Given the description of an element on the screen output the (x, y) to click on. 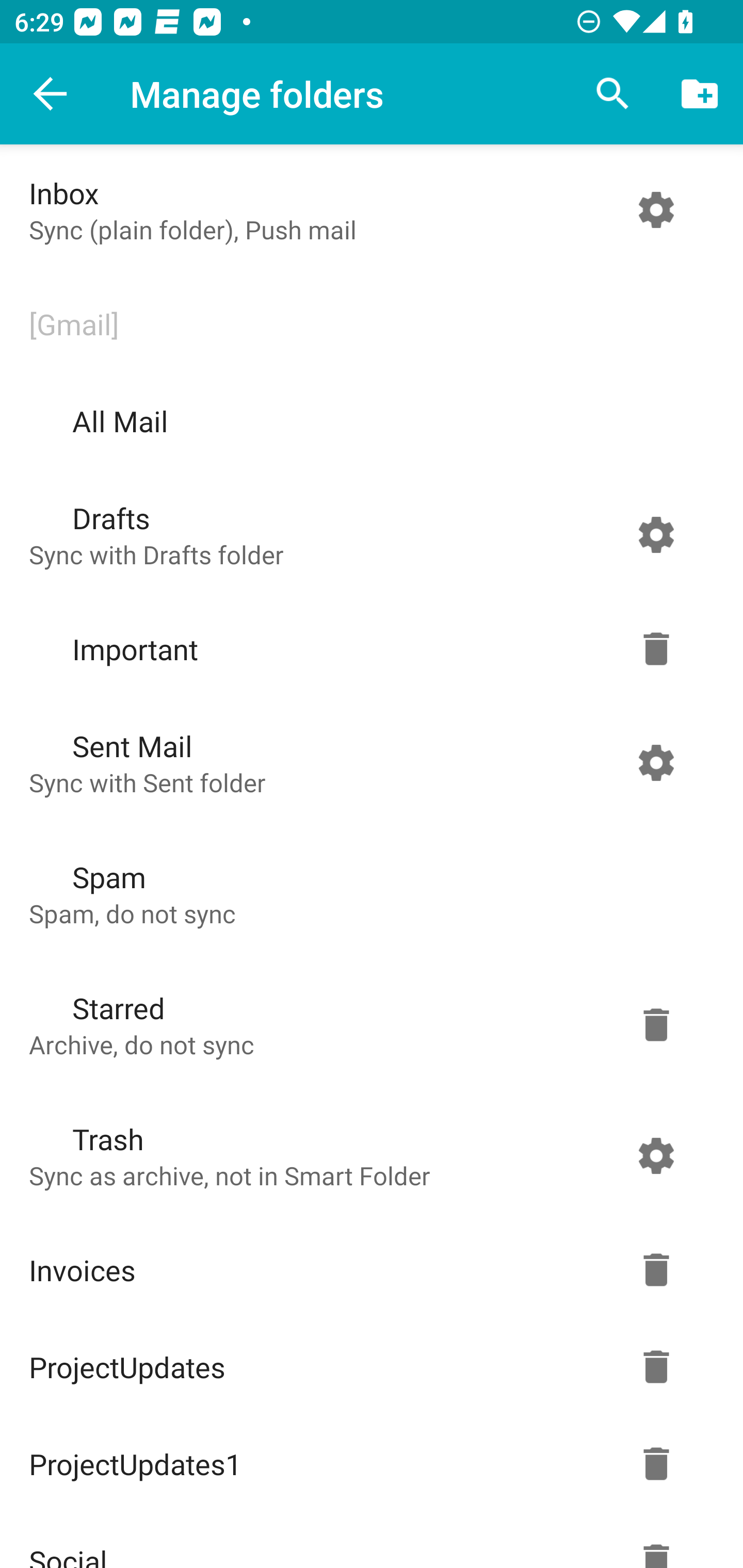
Navigate up (50, 93)
Search folders (612, 93)
Create folder (699, 93)
Folder settings (655, 209)
All Mail (367, 420)
Drafts Sync with Drafts folder Folder settings (367, 534)
Folder settings (655, 534)
Important Folder settings (367, 648)
Folder settings (655, 648)
Sent Mail Sync with Sent folder Folder settings (367, 762)
Folder settings (655, 762)
Spam Spam, do not sync (367, 893)
Starred Archive, do not sync Folder settings (367, 1024)
Folder settings (655, 1024)
Folder settings (655, 1155)
Invoices Folder settings (367, 1269)
Folder settings (655, 1269)
ProjectUpdates Folder settings (367, 1366)
Folder settings (655, 1366)
ProjectUpdates1 Folder settings (367, 1463)
Folder settings (655, 1463)
